Given the description of an element on the screen output the (x, y) to click on. 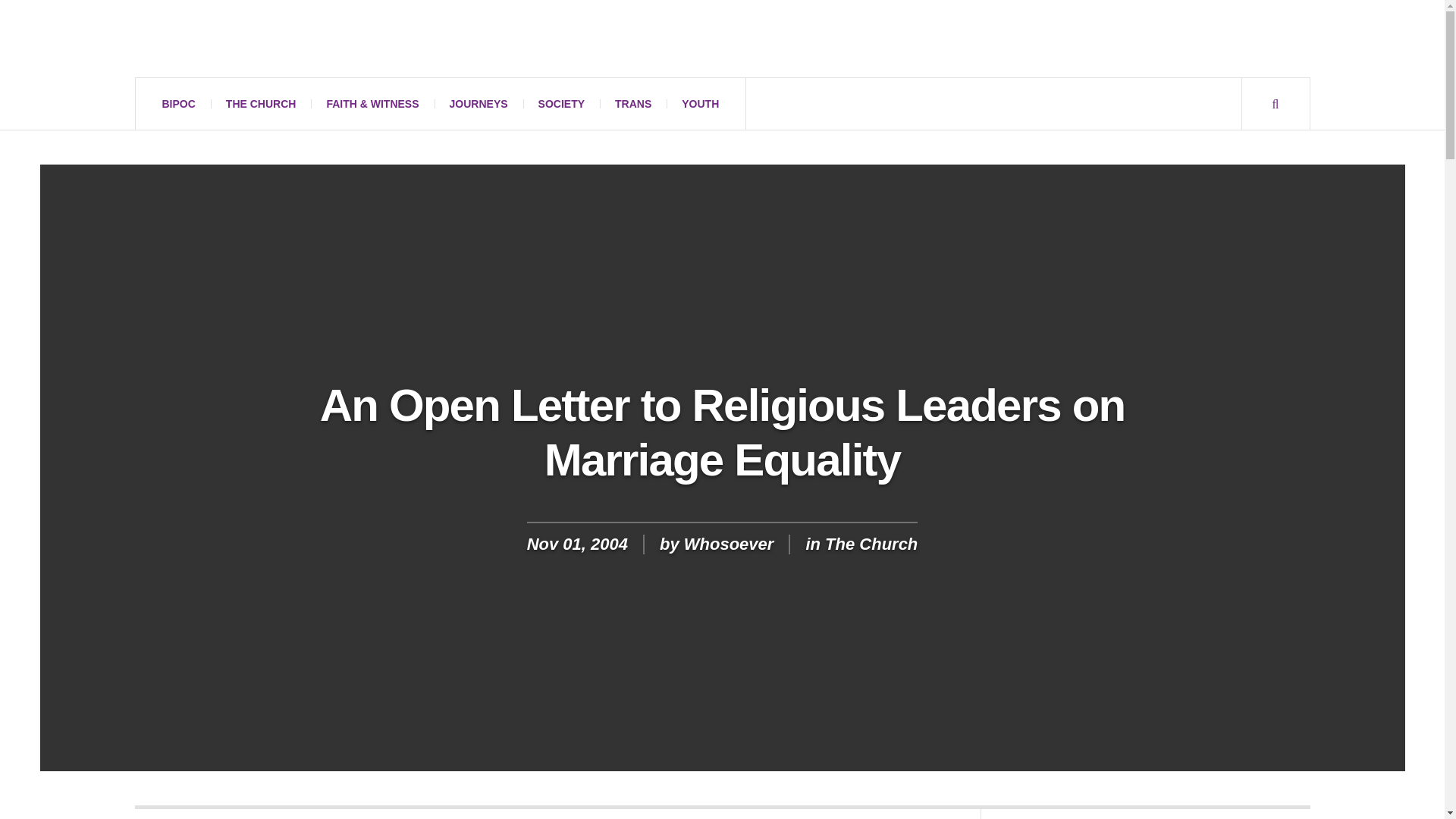
Whosoever (729, 543)
YOUTH (699, 103)
Whosoever (274, 38)
The Church (871, 543)
TRANS (632, 103)
BIPOC (179, 103)
THE CHURCH (261, 103)
JOURNEYS (477, 103)
View all posts in The Church (871, 543)
SOCIETY (560, 103)
